Given the description of an element on the screen output the (x, y) to click on. 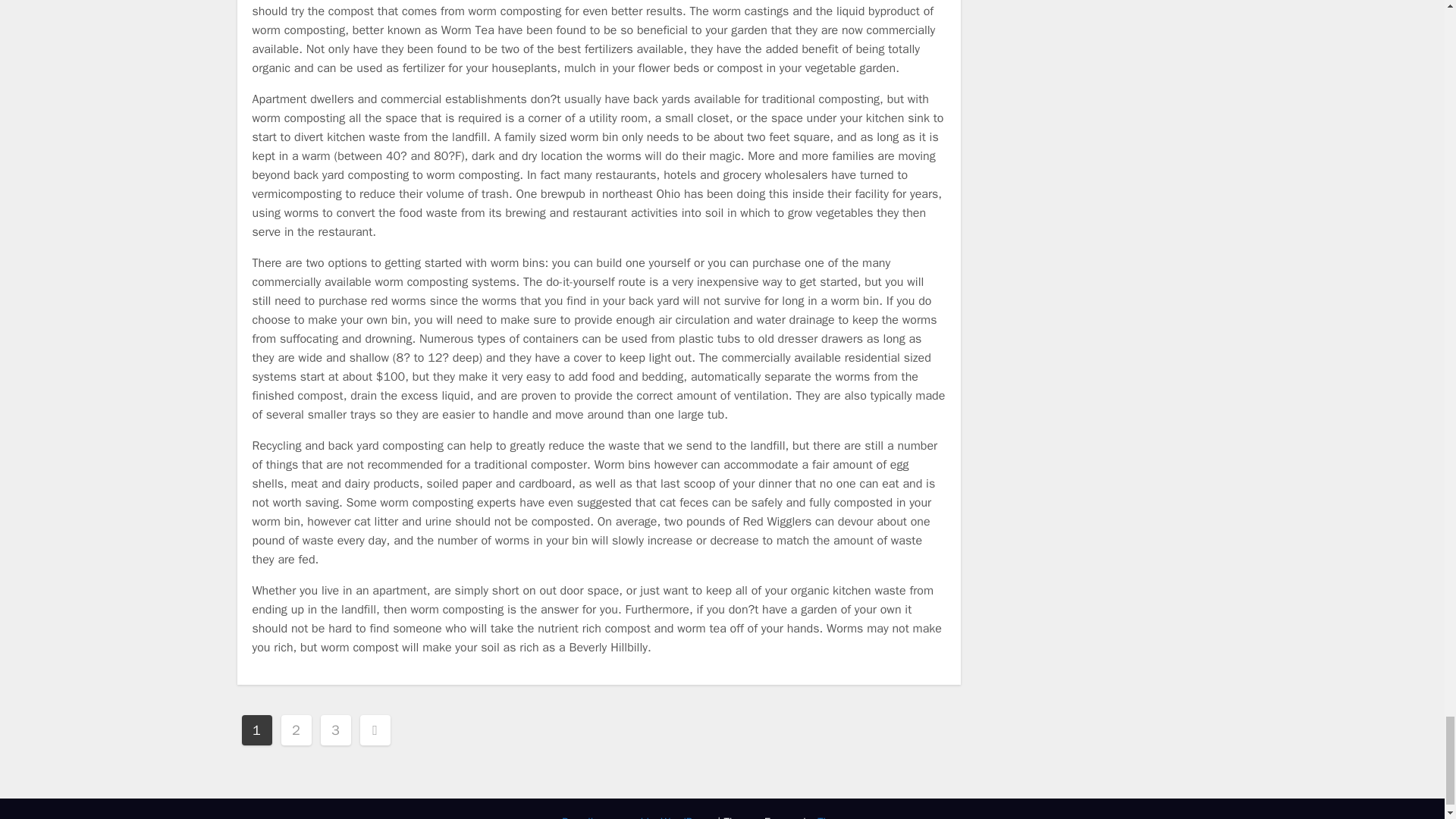
3 (335, 729)
2 (296, 729)
